Given the description of an element on the screen output the (x, y) to click on. 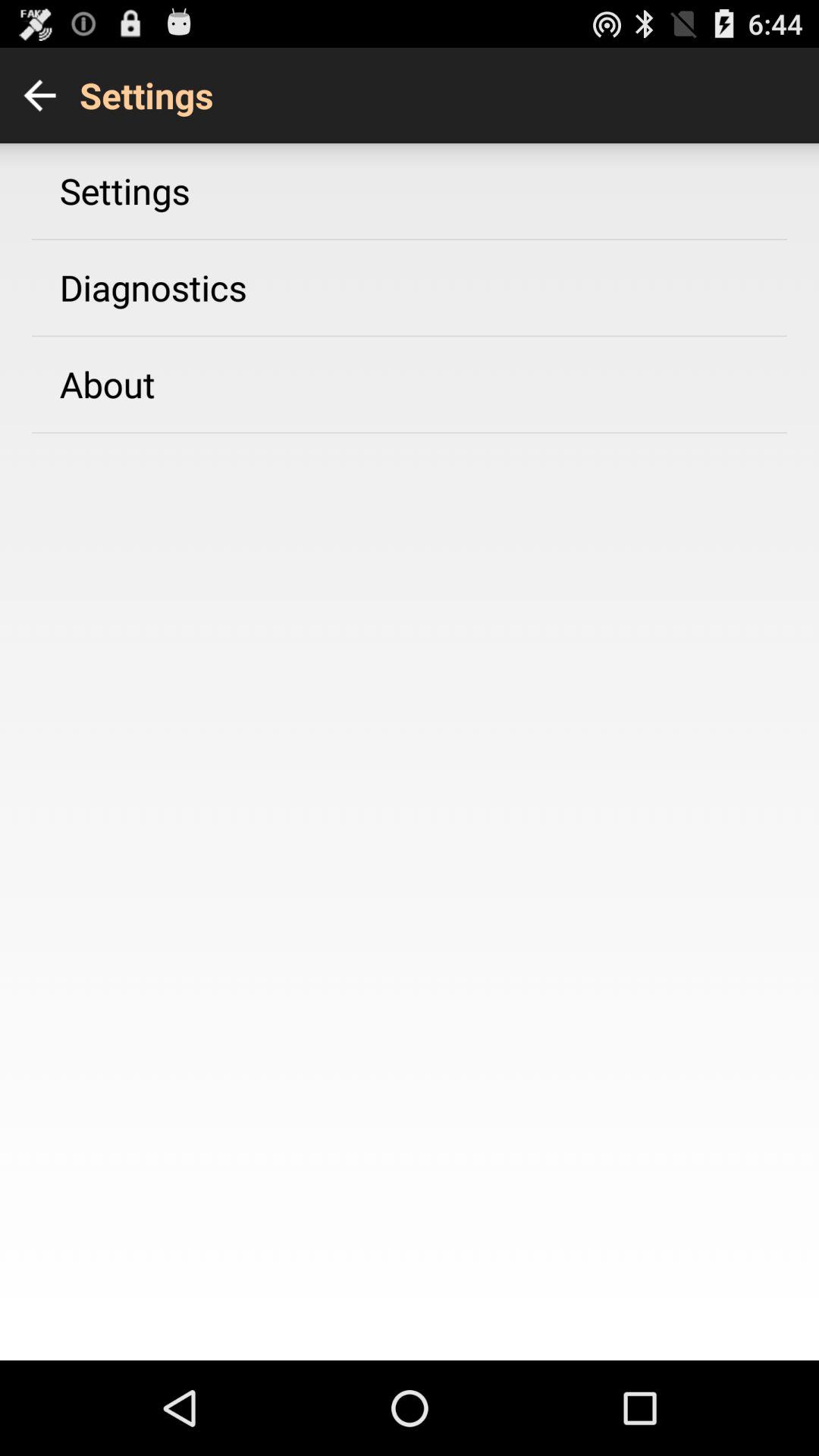
flip until the diagnostics (152, 287)
